Given the description of an element on the screen output the (x, y) to click on. 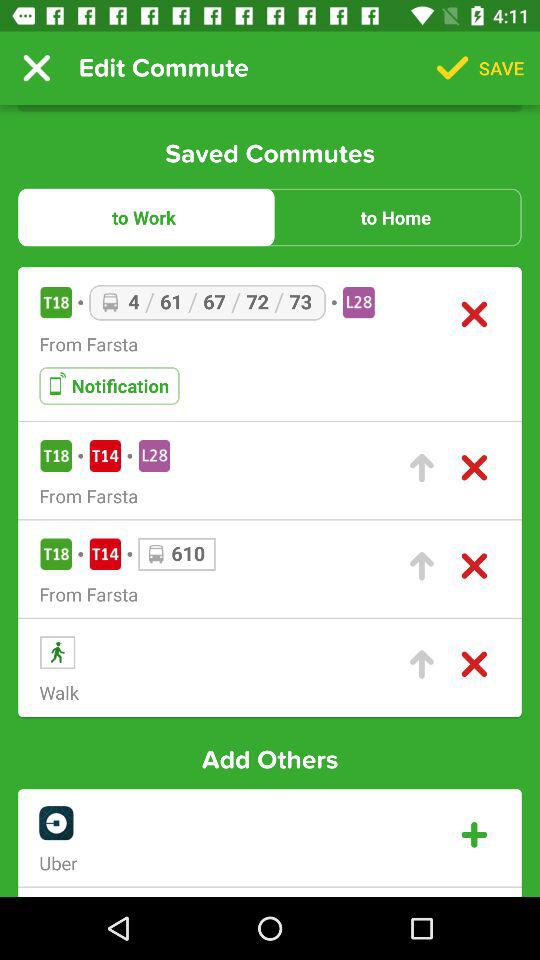
select route (421, 467)
